Given the description of an element on the screen output the (x, y) to click on. 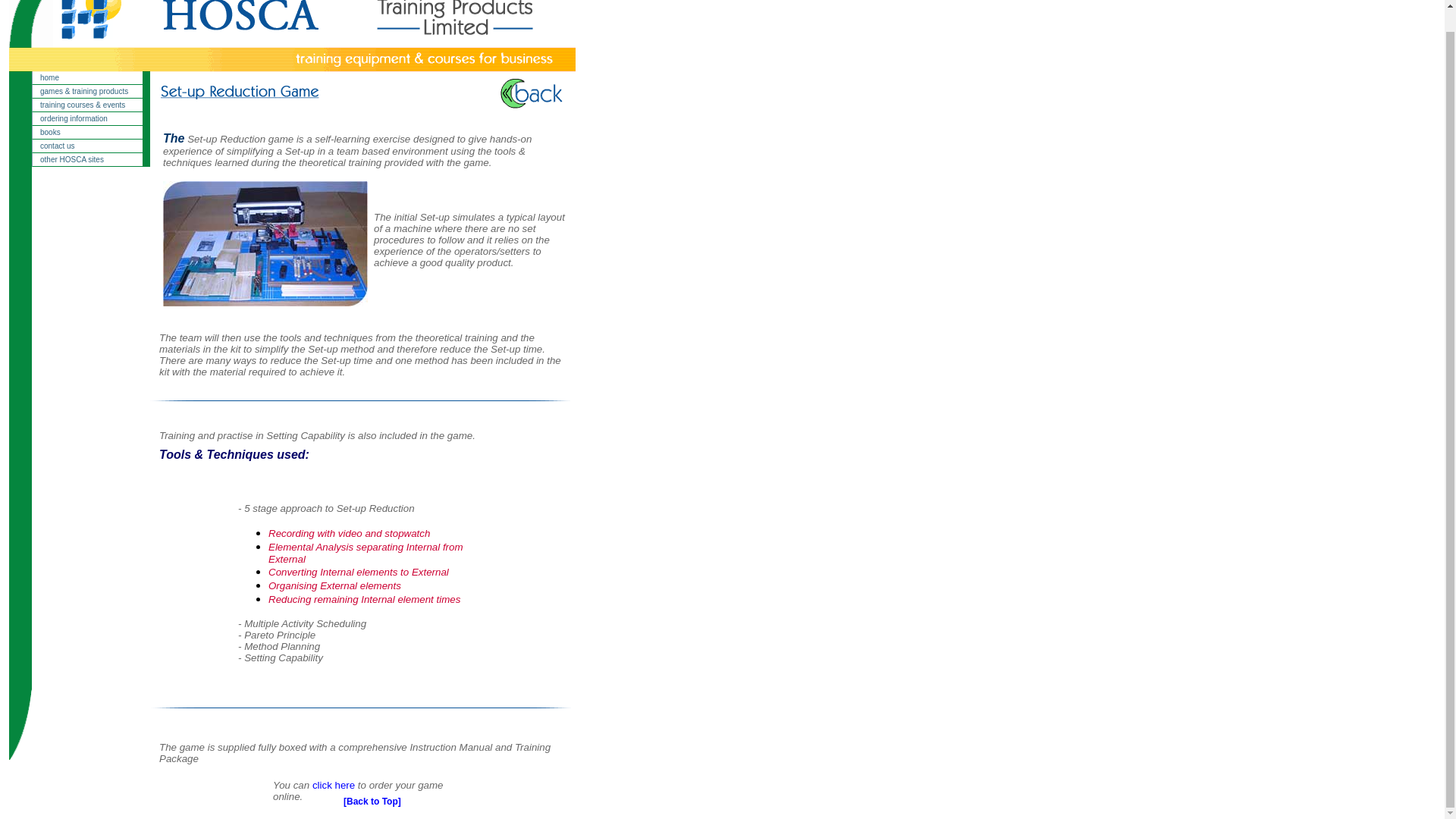
home (90, 78)
contact us (90, 146)
ordering information (90, 119)
click here (334, 785)
other HOSCA sites (90, 160)
books (90, 132)
